Given the description of an element on the screen output the (x, y) to click on. 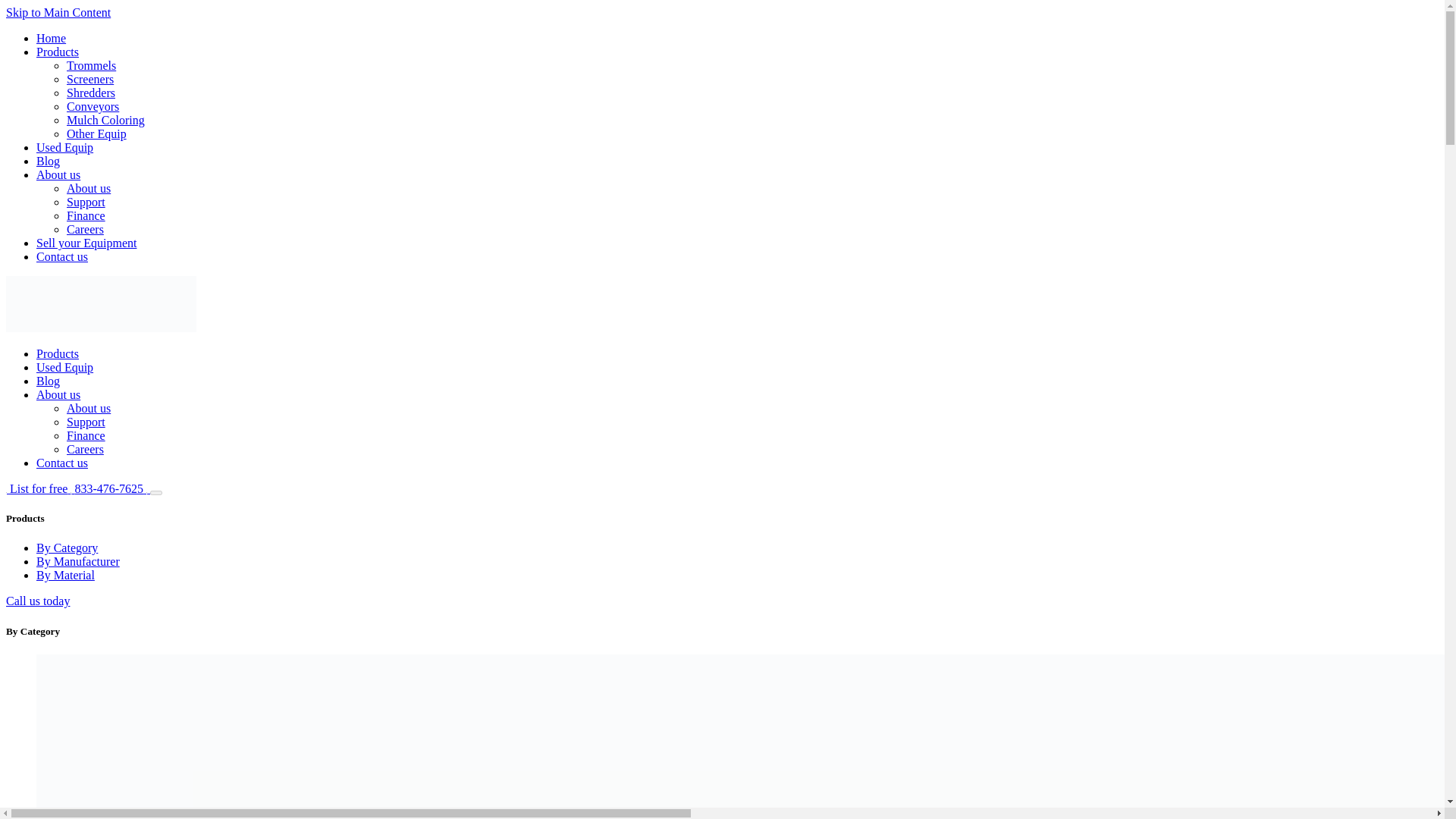
Used Equip (64, 367)
Shredders (90, 92)
Support (85, 201)
Contact us (61, 256)
Careers (84, 449)
Finance (85, 435)
Blog (47, 160)
Trommels (91, 65)
By Manufacturer (77, 561)
Sell your Equipment (86, 242)
Screeners (89, 78)
Blog (47, 380)
Conveyors (92, 106)
About us (58, 174)
Home (50, 38)
